Given the description of an element on the screen output the (x, y) to click on. 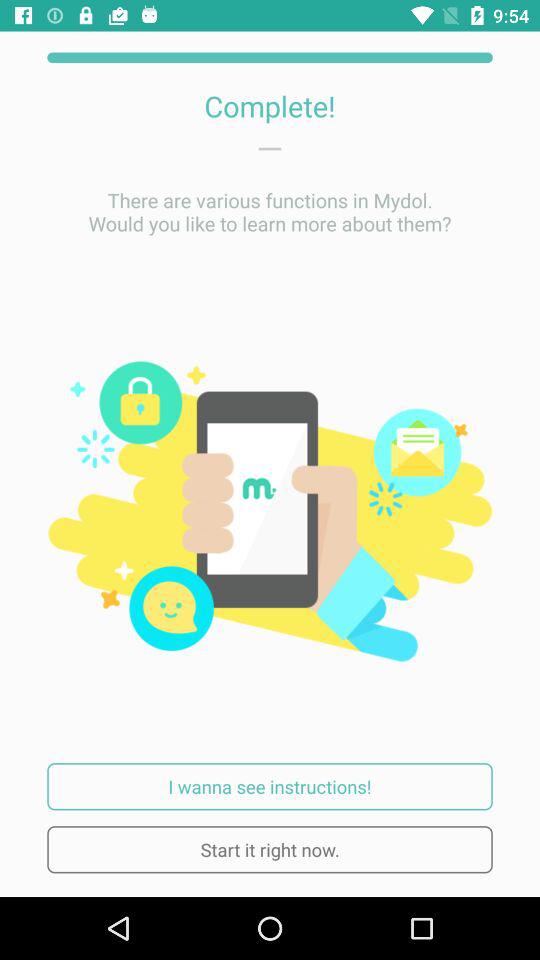
select i wanna see (269, 786)
